Given the description of an element on the screen output the (x, y) to click on. 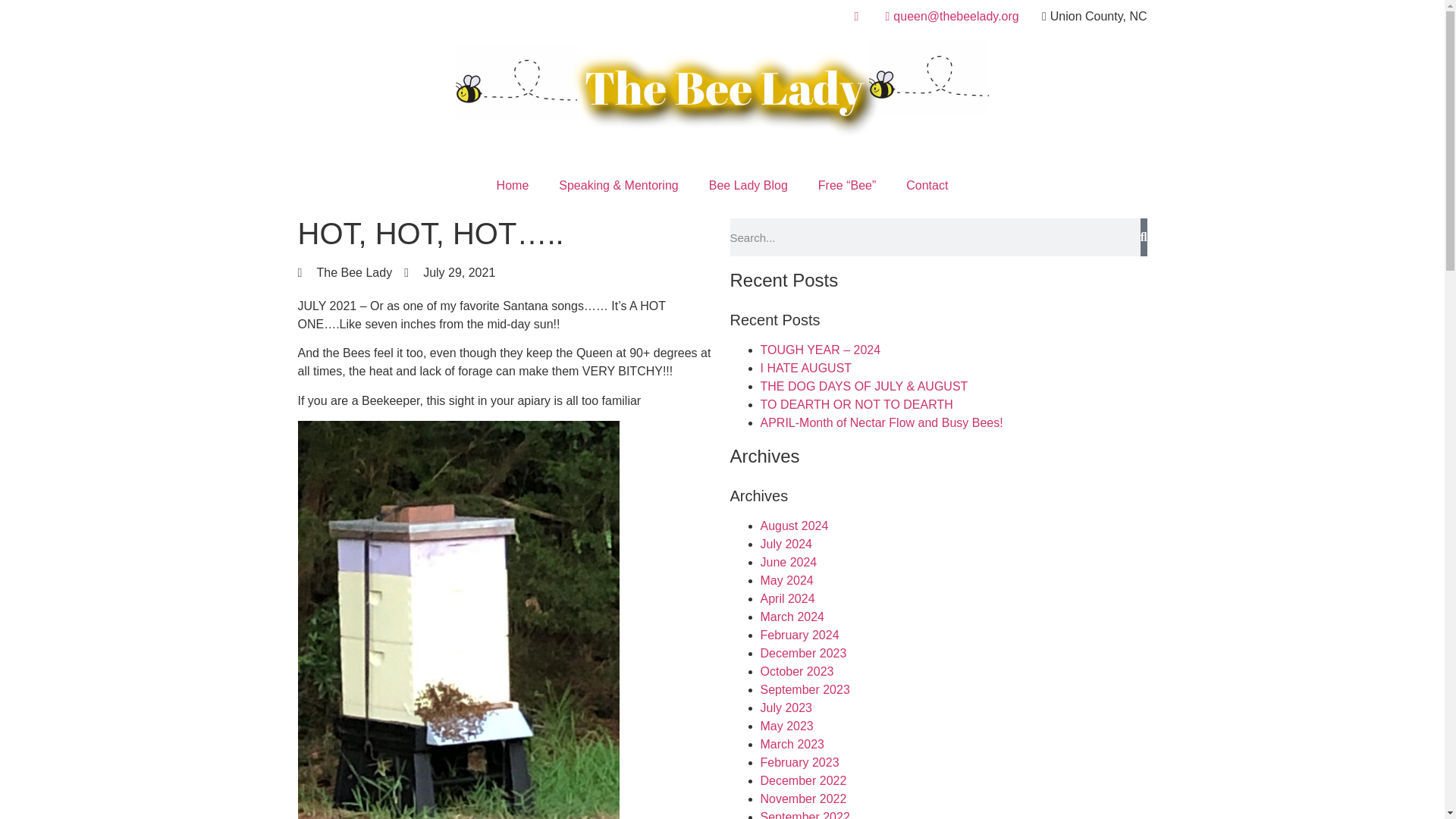
April 2024 (786, 598)
October 2023 (796, 671)
Home (512, 185)
TO DEARTH OR NOT TO DEARTH (856, 404)
November 2022 (802, 798)
February 2023 (799, 762)
Bee Lady Blog (748, 185)
May 2024 (786, 580)
Contact (926, 185)
March 2023 (792, 744)
